Given the description of an element on the screen output the (x, y) to click on. 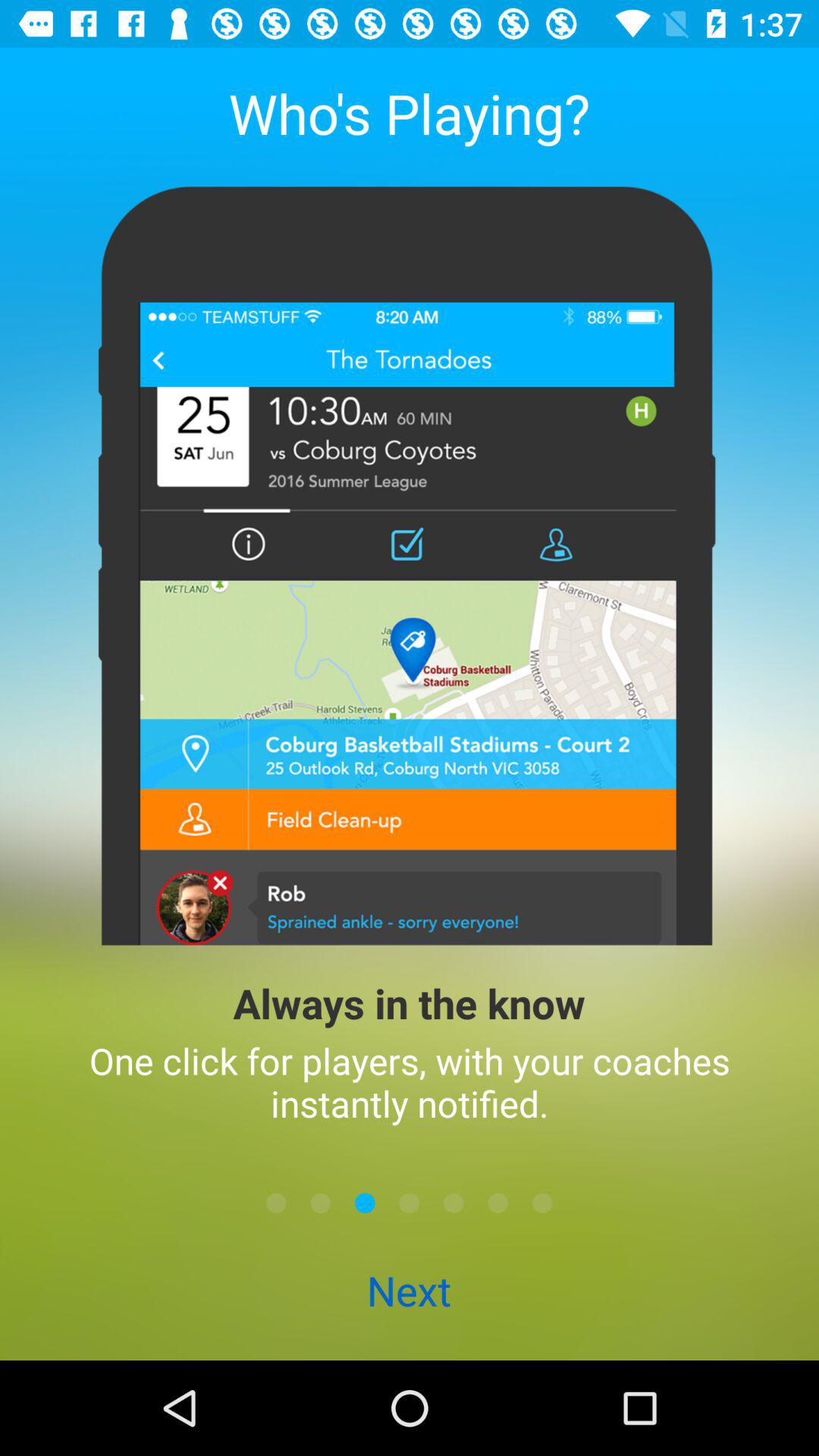
3rd tab over (498, 1203)
